Given the description of an element on the screen output the (x, y) to click on. 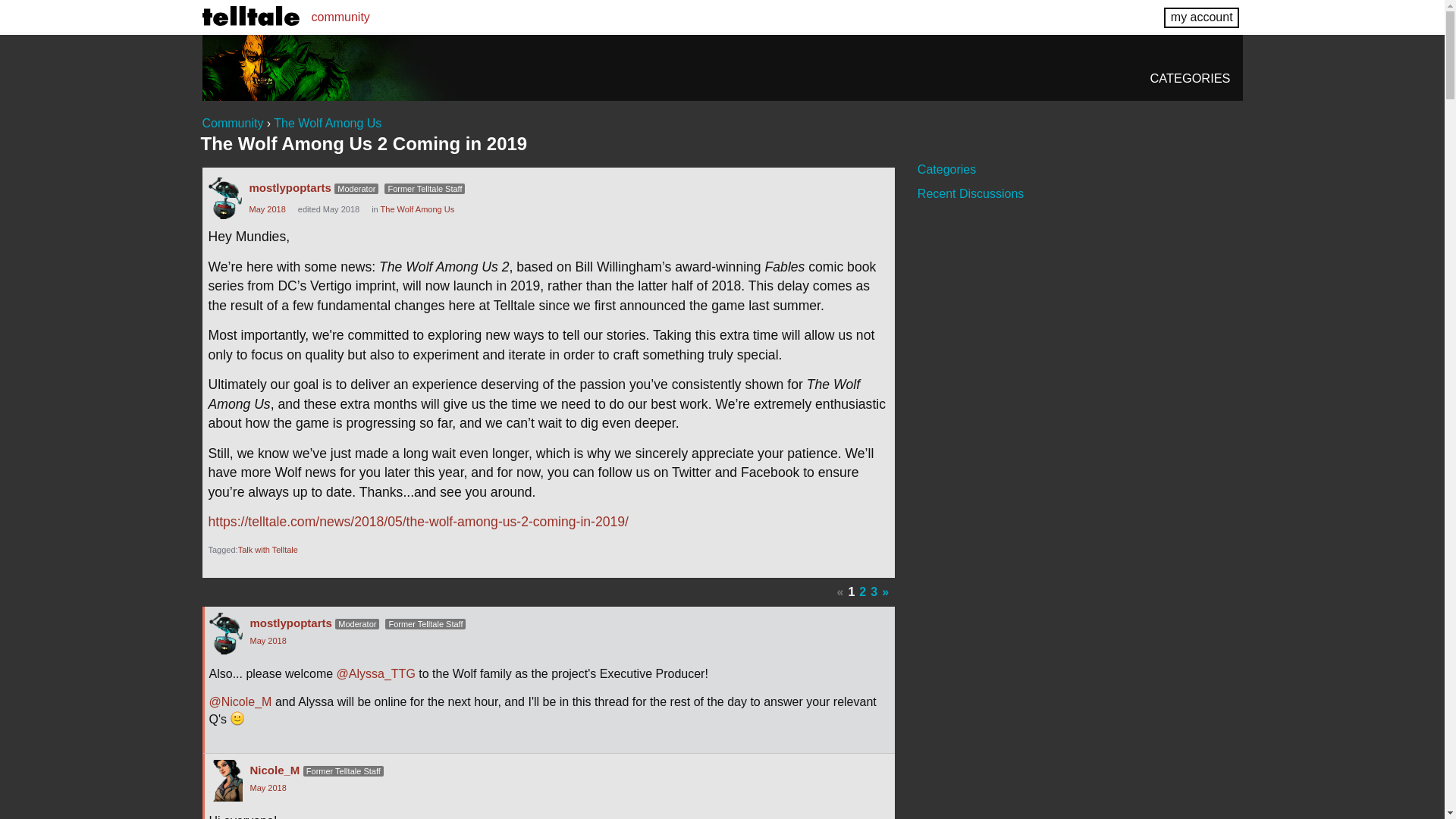
mostlypoptarts (289, 187)
May 25, 2018 10:10AM (268, 787)
The Wolf Among Us (327, 123)
my account (1201, 17)
CATEGORIES (1190, 78)
community (340, 16)
May 2018 (266, 208)
Community (232, 123)
The Wolf Among Us (417, 208)
Edited May 25, 2018 5:19PM by Blind Sniper. (328, 208)
mostlypoptarts (290, 622)
Talk with Telltale (268, 549)
May 2018 (268, 640)
May 25, 2018 10:01AM (266, 208)
May 25, 2018 10:09AM (268, 640)
